Given the description of an element on the screen output the (x, y) to click on. 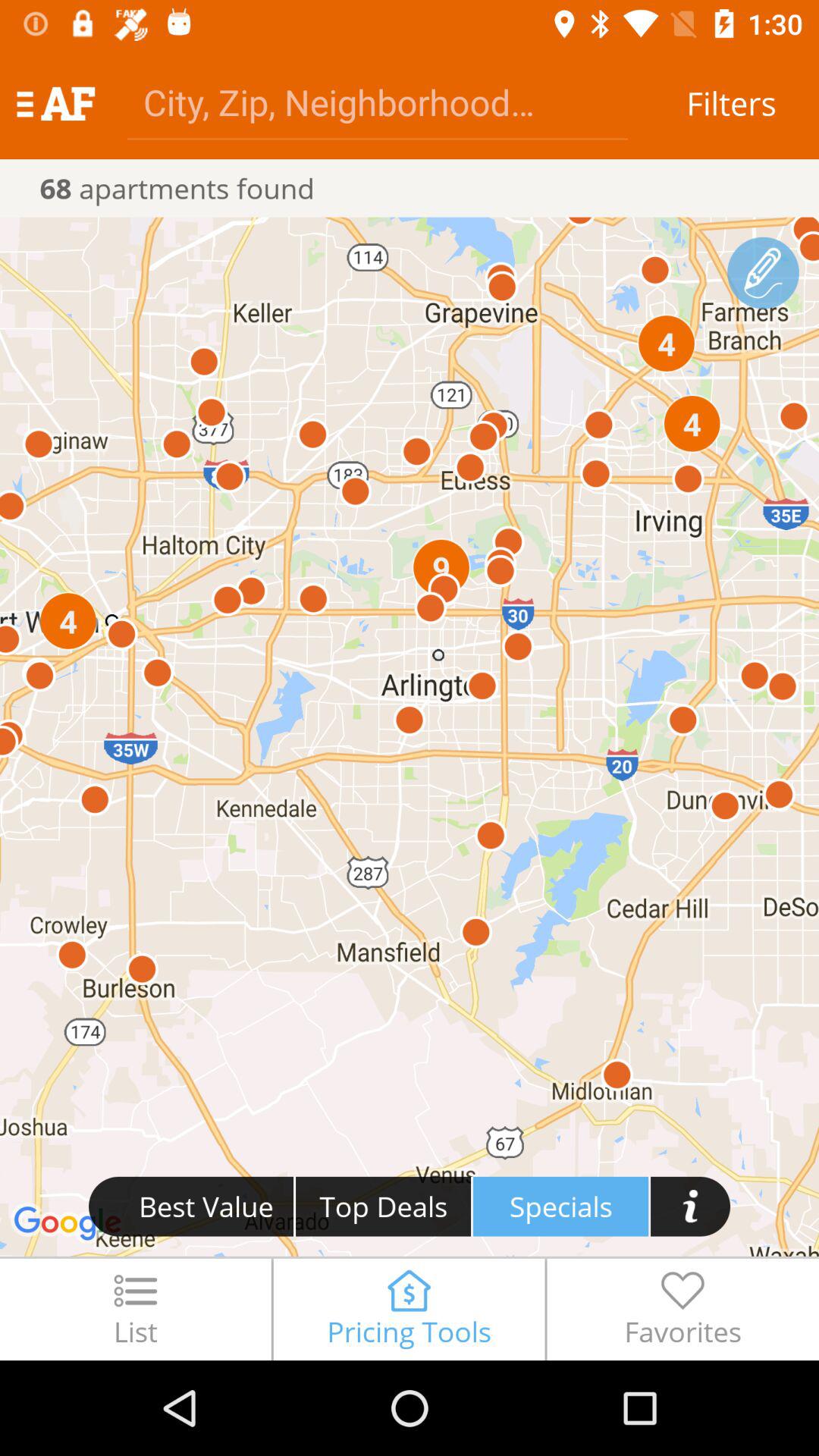
click icon below the filters (763, 272)
